Given the description of an element on the screen output the (x, y) to click on. 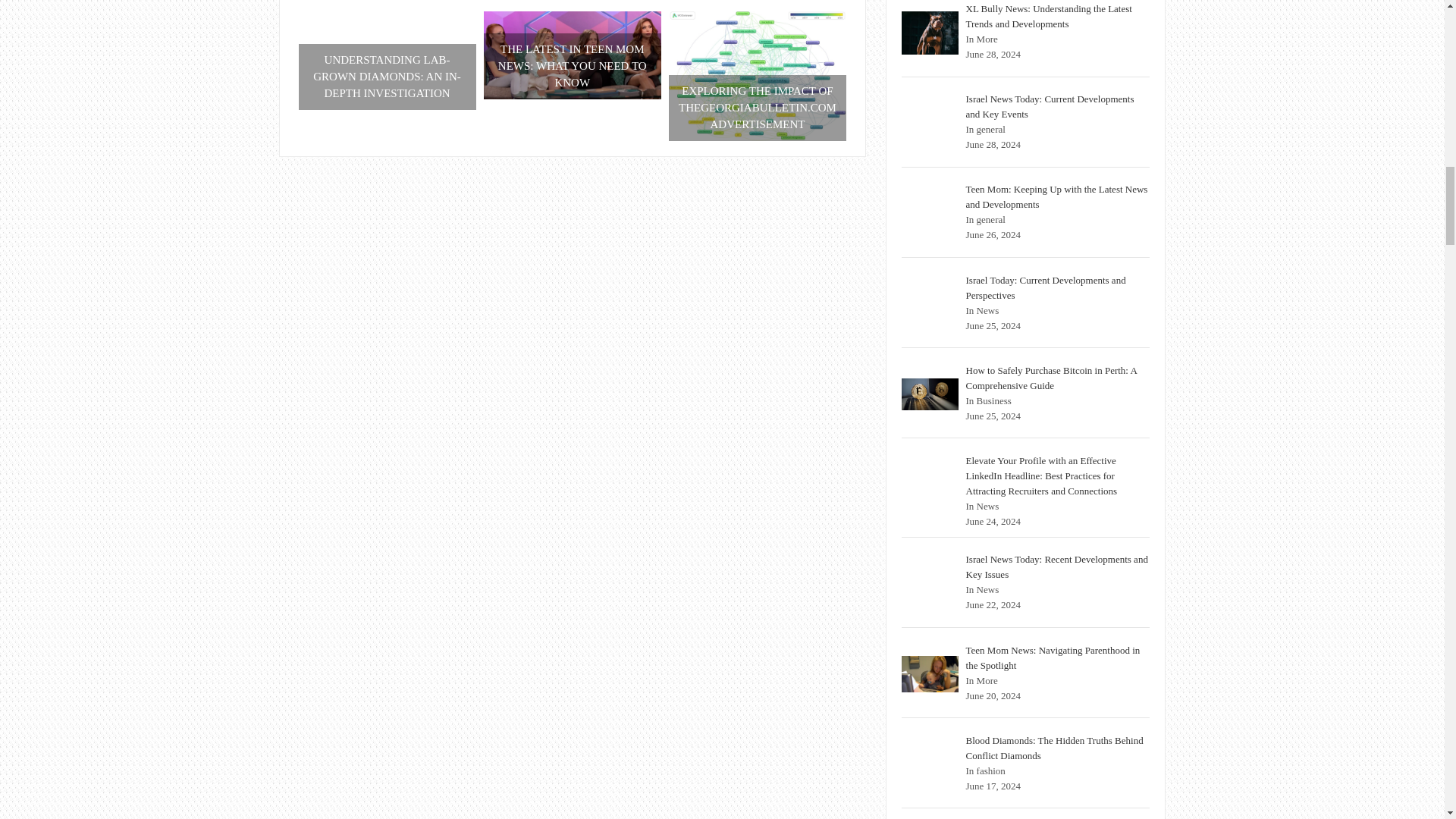
The Latest in Teen Mom News: What You Need to Know (572, 55)
Exploring the Impact of thegeorgiabulletin.com Advertisement (756, 75)
Understanding Lab-Grown Diamonds: An In-Depth Investigation (387, 60)
